Given the description of an element on the screen output the (x, y) to click on. 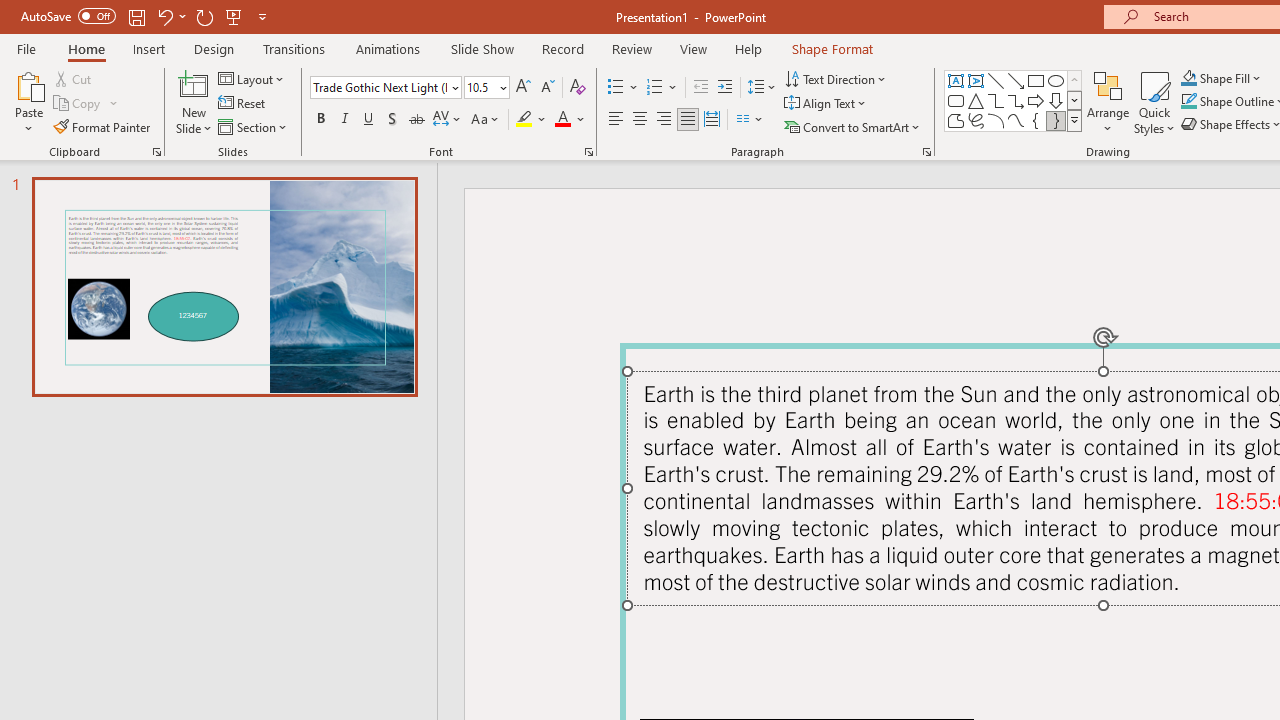
Layout (252, 78)
Line Spacing (762, 87)
Vertical Text Box (975, 80)
Increase Font Size (522, 87)
Line Arrow (1016, 80)
Columns (750, 119)
Bold (320, 119)
Left Brace (1035, 120)
Office Clipboard... (156, 151)
